Given the description of an element on the screen output the (x, y) to click on. 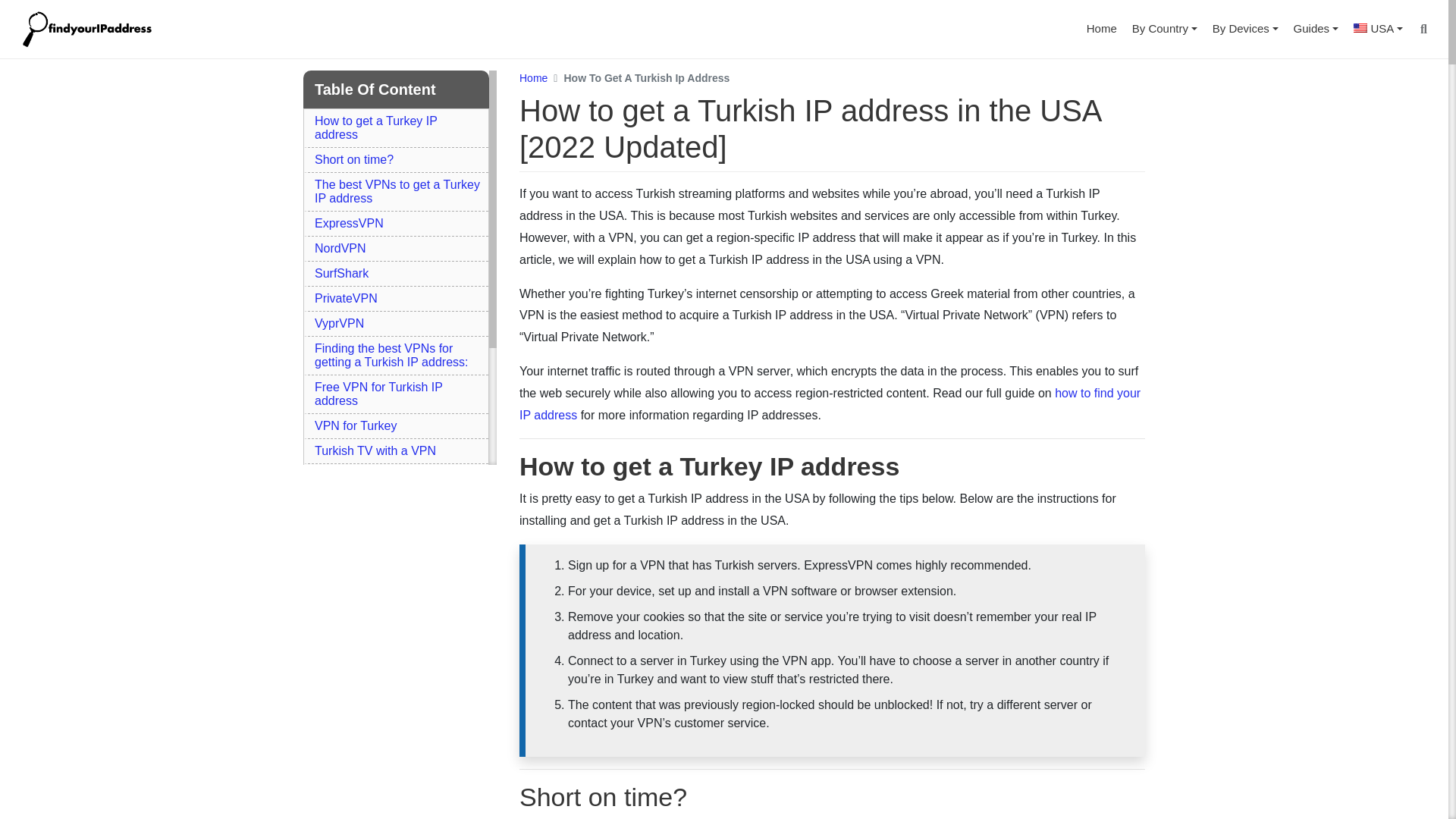
By Country (1164, 29)
USA (1377, 29)
By Devices (1245, 29)
Home (1101, 29)
